Given the description of an element on the screen output the (x, y) to click on. 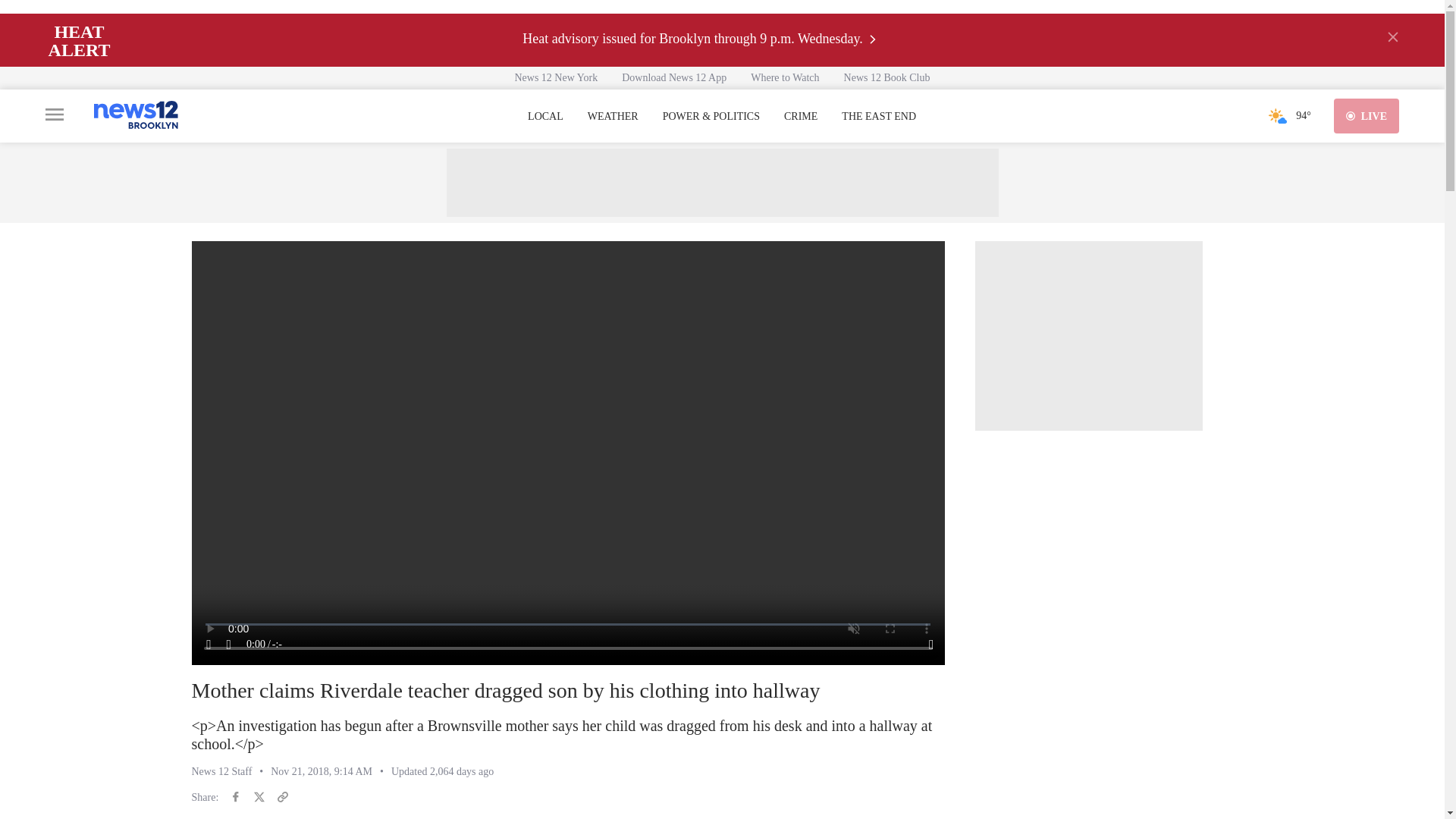
LOCAL (545, 116)
News 12 Book Club (886, 78)
THE EAST END (878, 116)
LIVE (1366, 115)
WEATHER (613, 116)
Fair or Mostly Sunny (1277, 115)
Download News 12 App (673, 78)
News 12 New York (556, 78)
CRIME (800, 116)
Where to Watch (784, 78)
